Given the description of an element on the screen output the (x, y) to click on. 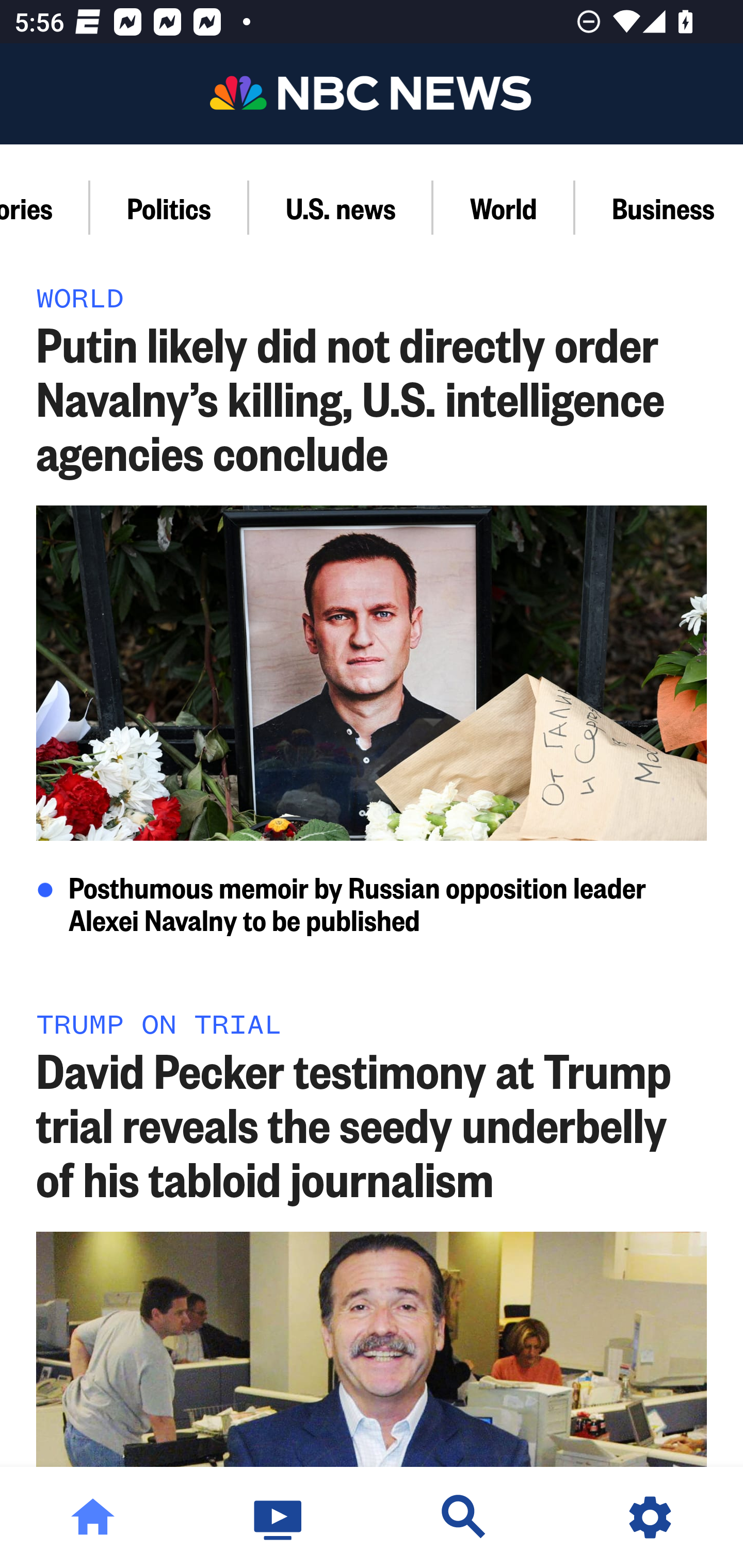
Politics Section,Politics (169, 207)
U.S. news Section,U.S. news (340, 207)
World Section,World (504, 207)
Business Section,Business (659, 207)
Watch (278, 1517)
Discover (464, 1517)
Settings (650, 1517)
